Given the description of an element on the screen output the (x, y) to click on. 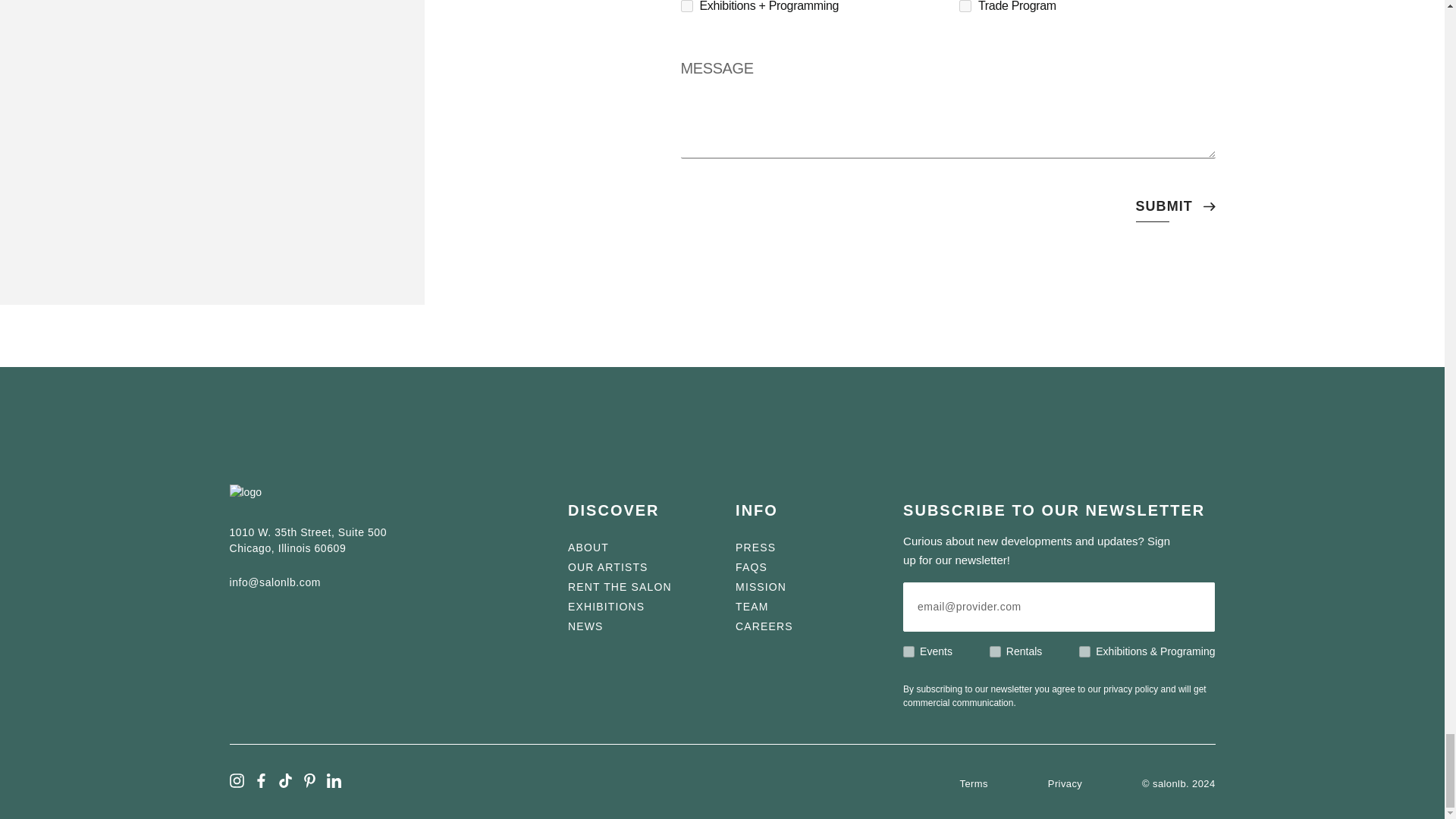
submit (1163, 207)
Trade Program (965, 6)
exhibitions-programing (1084, 651)
ABOUT (587, 547)
submit (1163, 207)
OUR ARTISTS (607, 567)
